Given the description of an element on the screen output the (x, y) to click on. 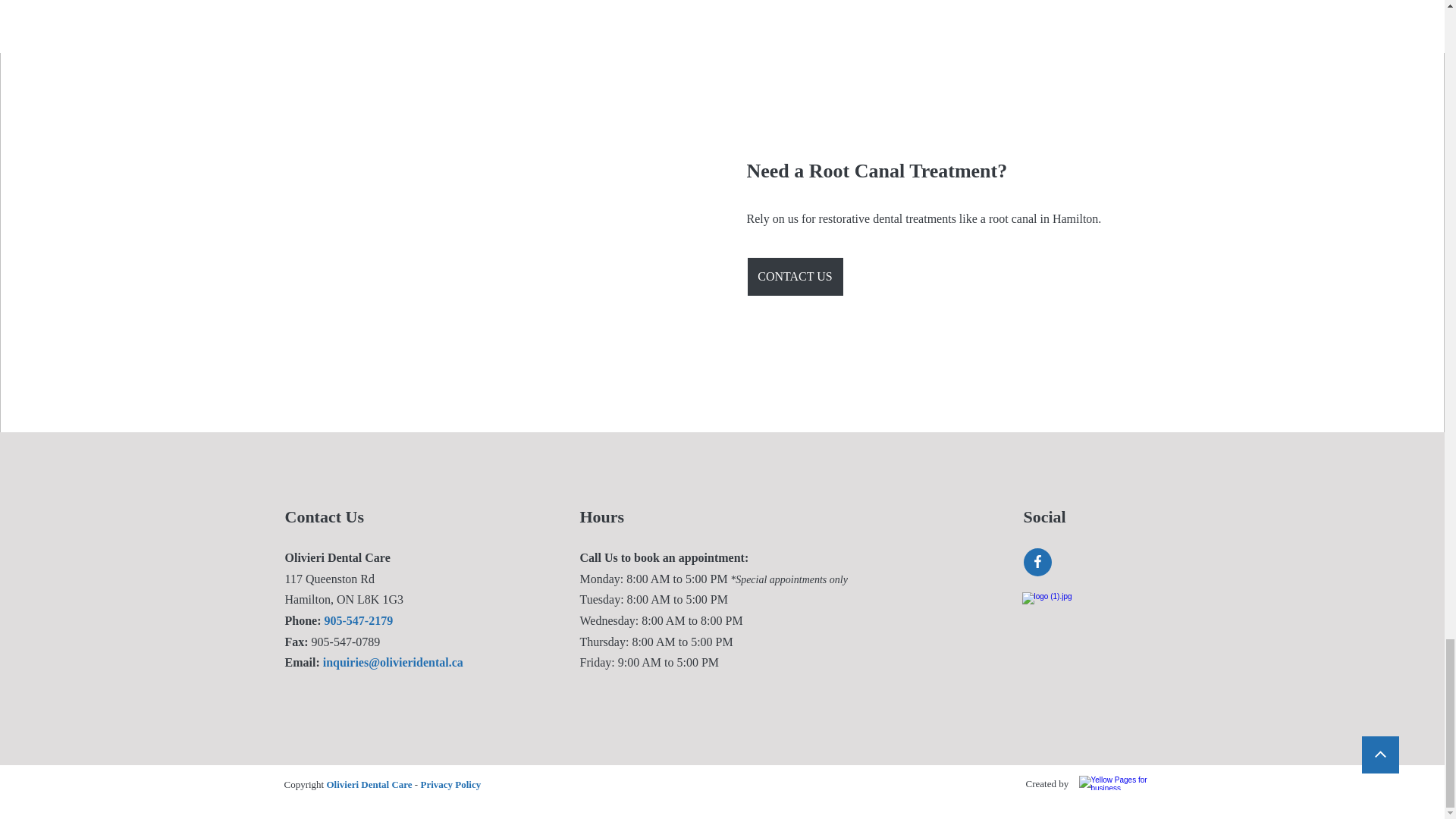
905-547-2179 (357, 620)
Olivieri Dental Care (369, 784)
CONTACT US (794, 276)
Privacy Policy (448, 784)
